Given the description of an element on the screen output the (x, y) to click on. 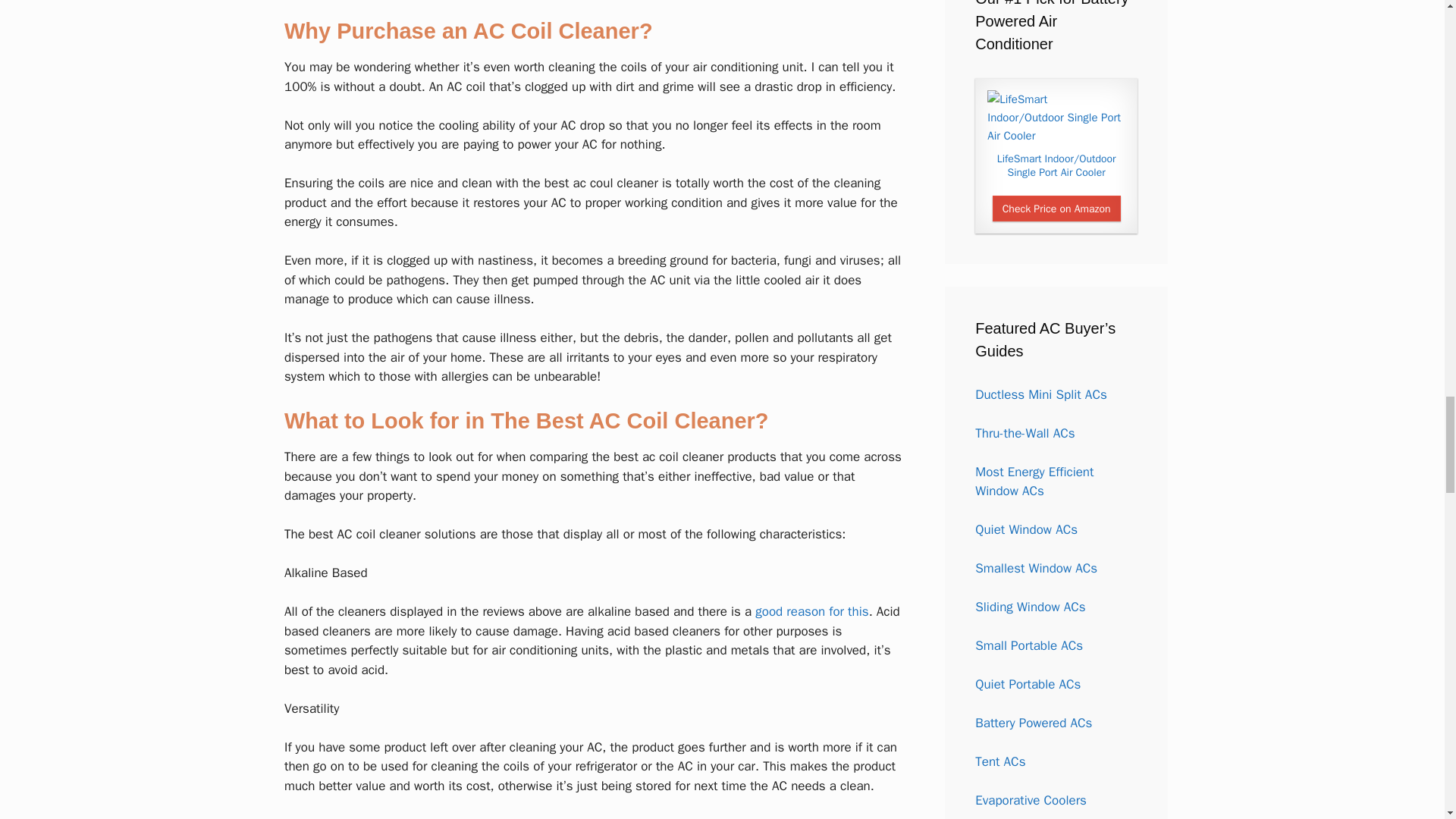
Check Price on Amazon (1056, 208)
